Given the description of an element on the screen output the (x, y) to click on. 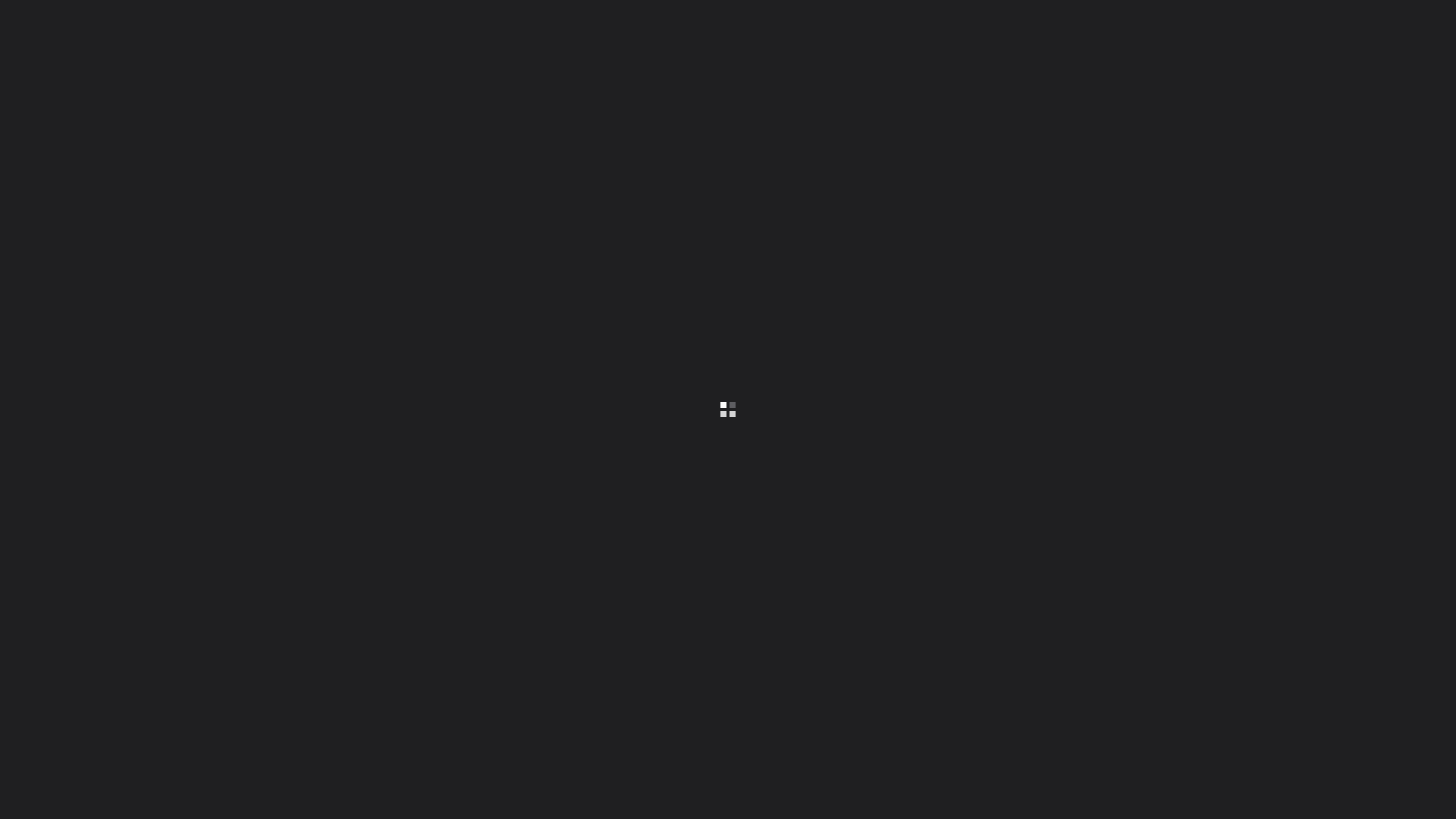
SEARCH Element type: text (236, 117)
Browse Photos Element type: text (186, 642)
Search "Caribbean Christmas 5K Tempe Arizona" for photos Element type: hover (1380, 22)
BUY PHOTOS Element type: text (1354, 535)
About SmugMug Element type: text (112, 642)
Photo Sharing Element type: text (38, 642)
Share Gallery Element type: hover (1195, 535)
SmugMug Element type: hover (59, 22)
Download All Element type: hover (1270, 535)
2018 Event Photos Element type: text (108, 161)
Prints & Gifts Element type: text (252, 642)
Terms Element type: text (300, 642)
Slideshow Element type: hover (1232, 535)
Owner Log In Element type: text (430, 642)
Contact Element type: text (378, 642)
Privacy Element type: text (338, 642)
